Given the description of an element on the screen output the (x, y) to click on. 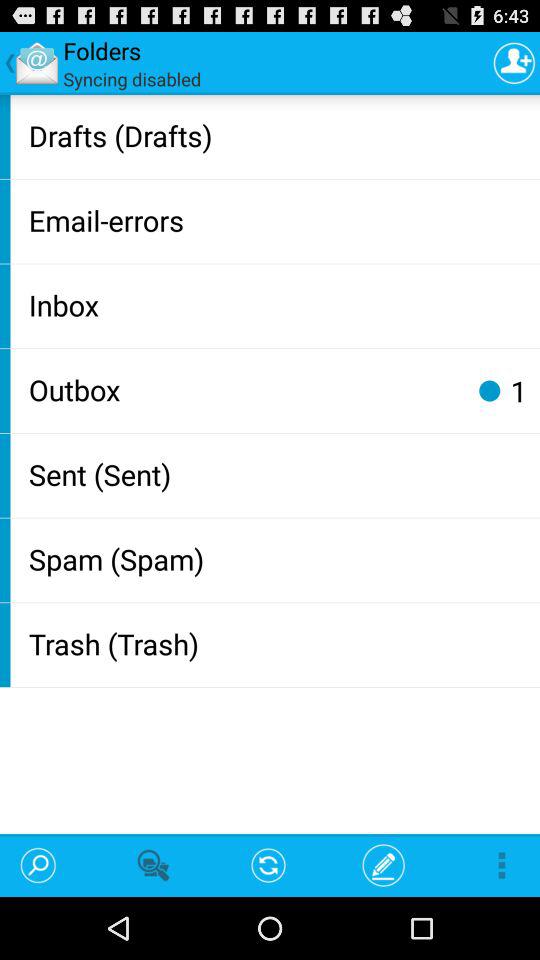
flip to outbox app (244, 389)
